Given the description of an element on the screen output the (x, y) to click on. 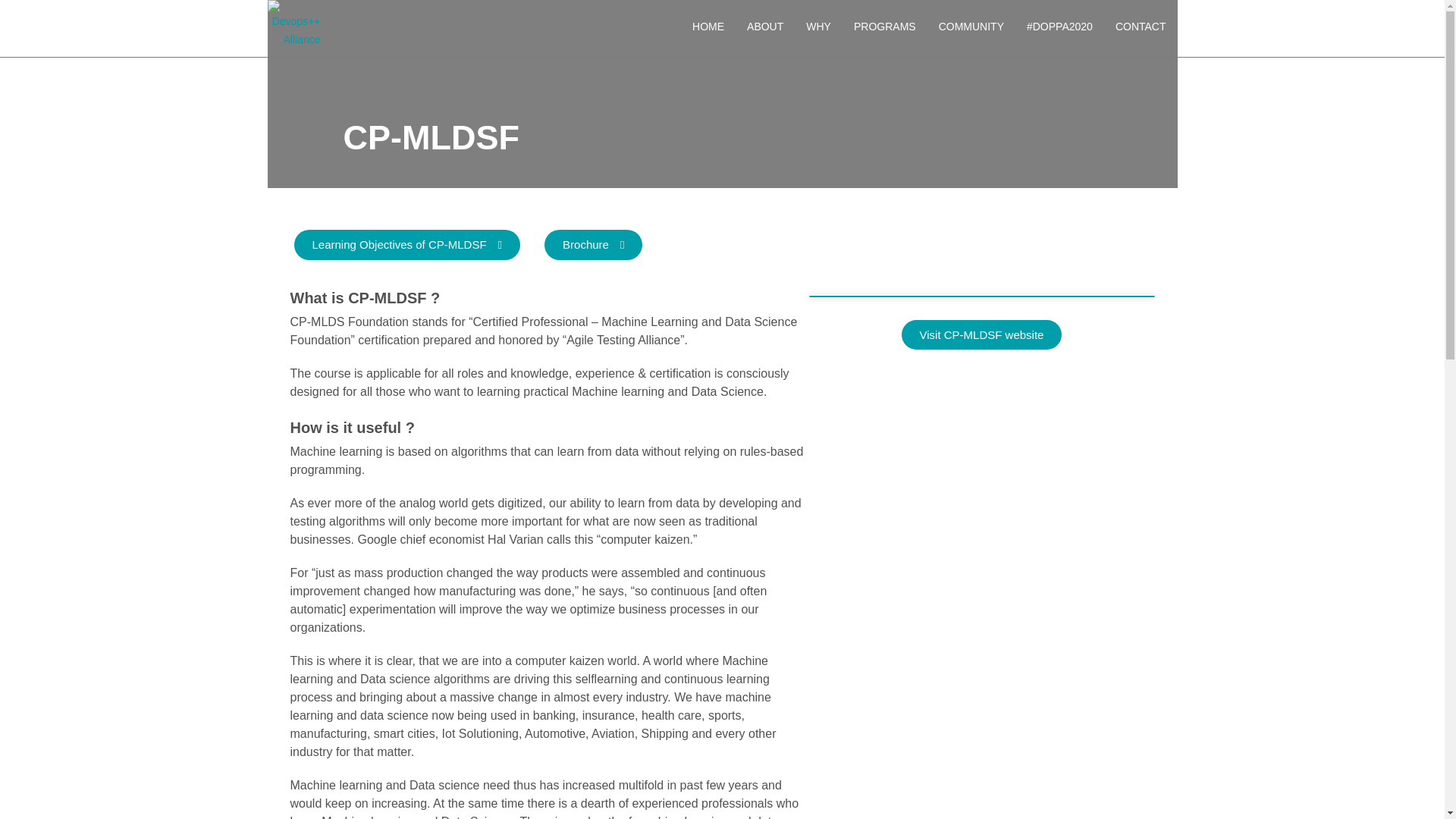
Learning Objectives of CP-MLDSF (407, 245)
PROGRAMS (885, 26)
COMMUNITY (970, 26)
Brochure (593, 245)
ABOUT (764, 26)
CONTACT (1140, 26)
WHY (818, 26)
HOME (708, 26)
Visit CP-MLDSF website (981, 334)
